Given the description of an element on the screen output the (x, y) to click on. 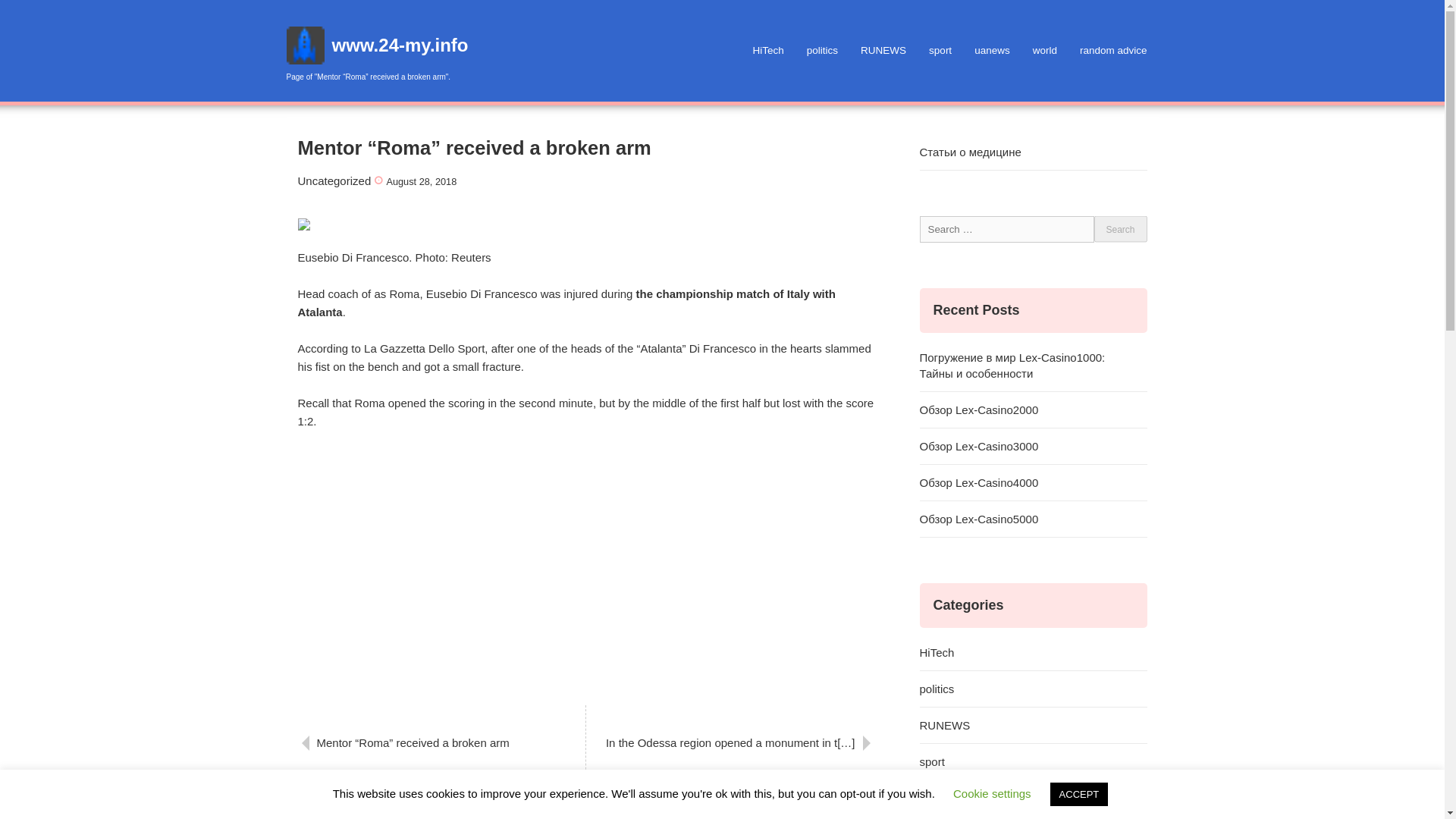
RUNEWS (1032, 725)
Search (1120, 228)
ACCEPT (1078, 793)
world (1045, 50)
www.24-my.info (399, 45)
uanews (992, 50)
Advertisement (585, 564)
politics (1032, 688)
HiTech (767, 50)
politics (821, 50)
HiTech (1032, 652)
sport (939, 50)
random advice (1113, 50)
Search (1120, 228)
